Given the description of an element on the screen output the (x, y) to click on. 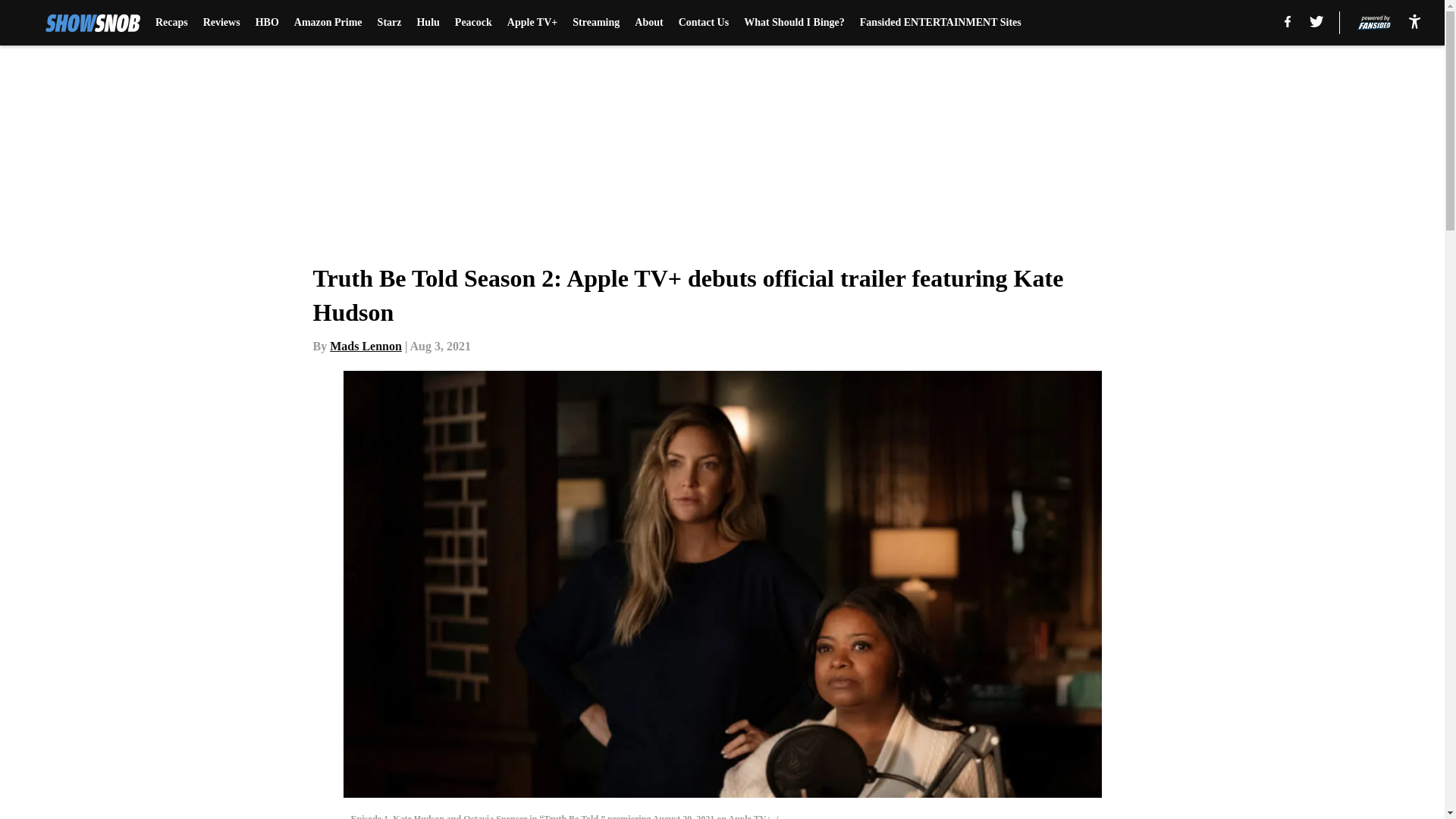
What Should I Binge? (794, 22)
Recaps (171, 22)
Hulu (427, 22)
HBO (267, 22)
Amazon Prime (328, 22)
About (648, 22)
Mads Lennon (365, 345)
Reviews (221, 22)
Fansided ENTERTAINMENT Sites (941, 22)
Peacock (473, 22)
Contact Us (703, 22)
Streaming (596, 22)
Starz (389, 22)
